Given the description of an element on the screen output the (x, y) to click on. 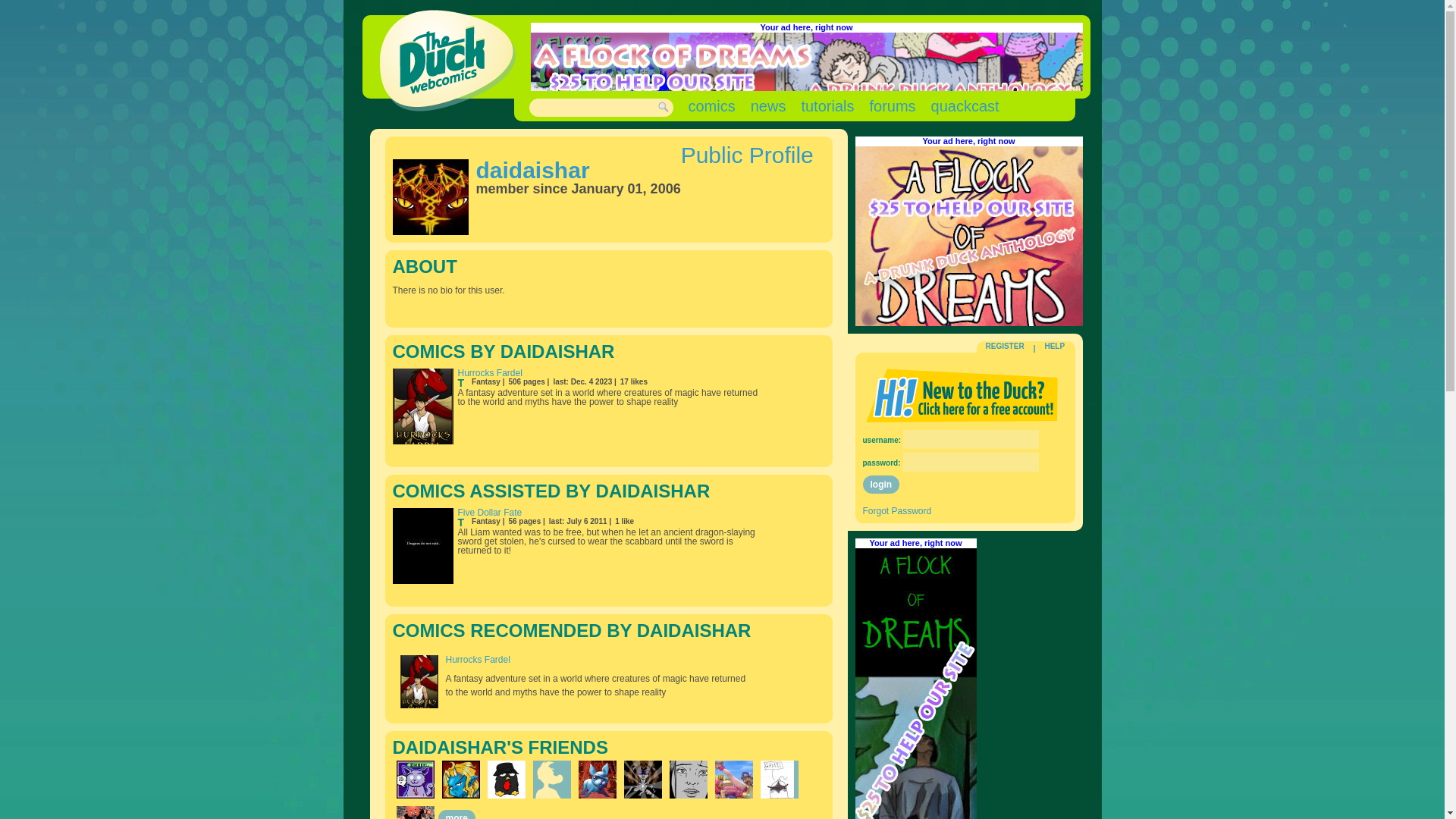
mobilepornography (687, 779)
Hurrocks Fardel (490, 372)
news (768, 105)
quackcast (964, 105)
kaminari (460, 779)
comics (711, 105)
Five Dollar Fate (490, 511)
Hurrocks Fardel (478, 659)
tutorials (826, 105)
ShadowsMyst (642, 779)
